Given the description of an element on the screen output the (x, y) to click on. 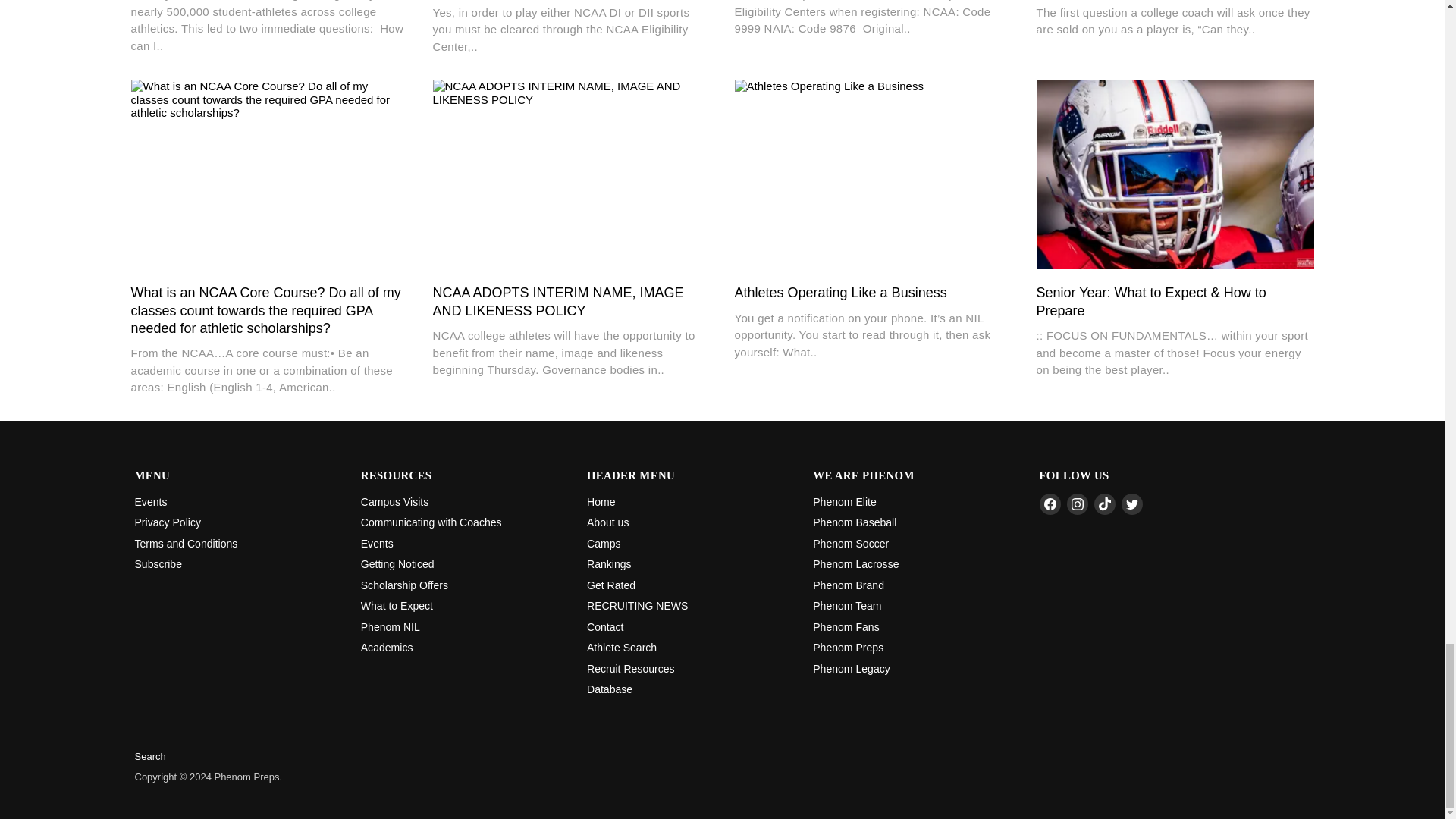
Twitter (1131, 504)
Instagram (1076, 504)
Facebook (1049, 504)
TikTok (1104, 504)
